Given the description of an element on the screen output the (x, y) to click on. 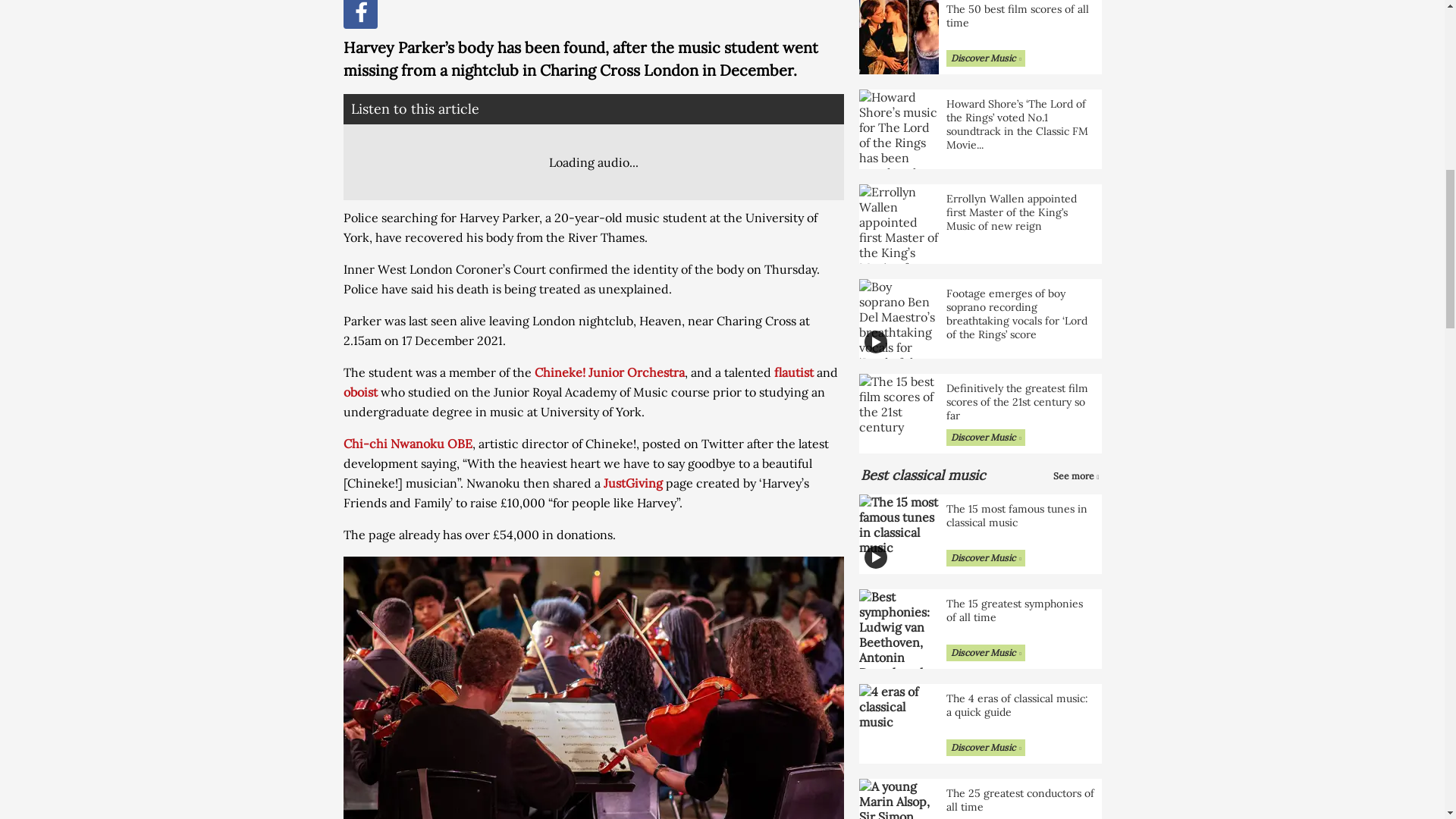
Chineke! Junior Orchestra (609, 372)
flautist (792, 372)
oboist (359, 391)
JustGiving (633, 482)
Chi-chi Nwanoku OBE (406, 443)
